Given the description of an element on the screen output the (x, y) to click on. 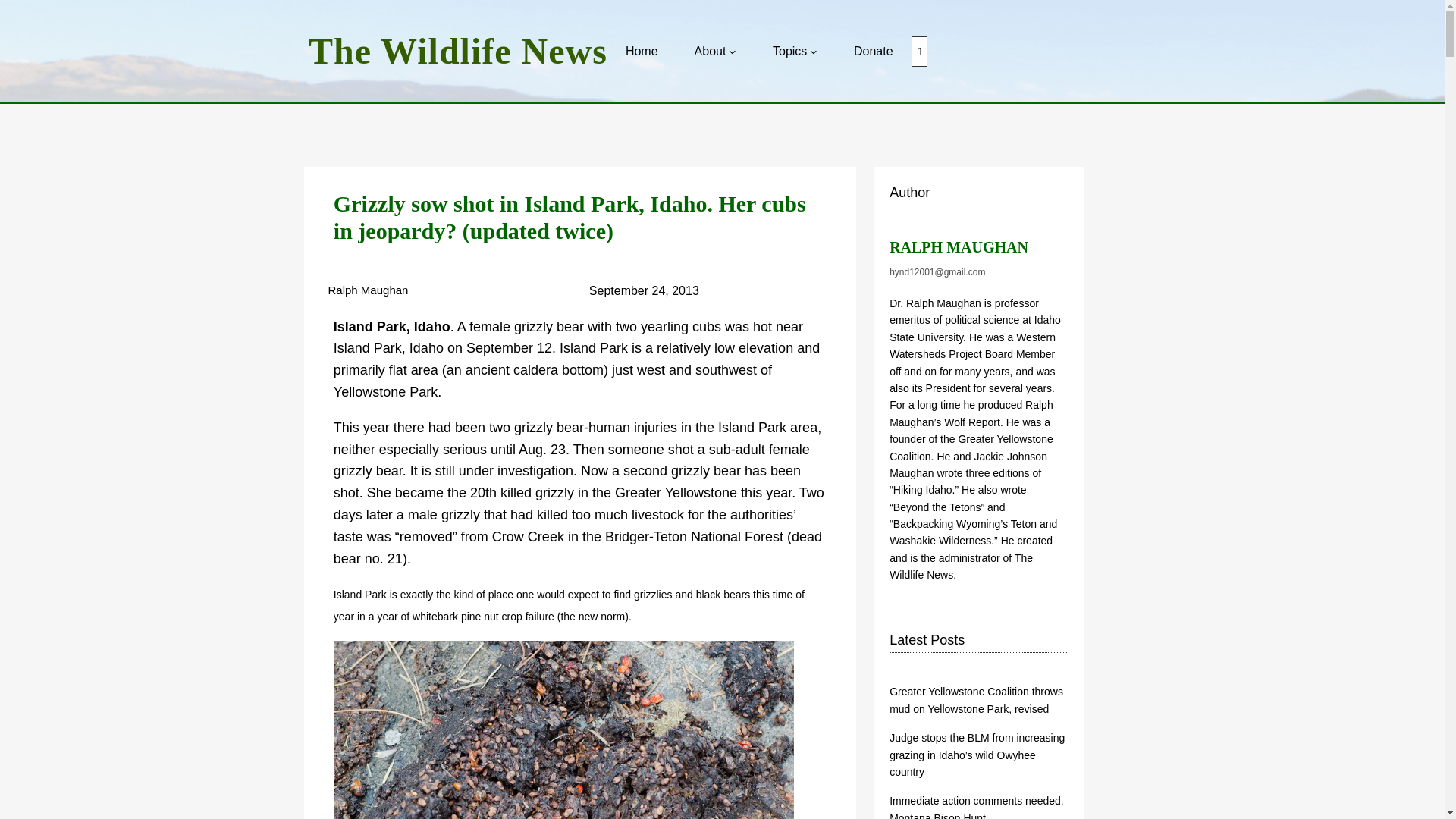
About (710, 51)
The Wildlife News (457, 51)
Topics (789, 51)
Home (642, 51)
